Given the description of an element on the screen output the (x, y) to click on. 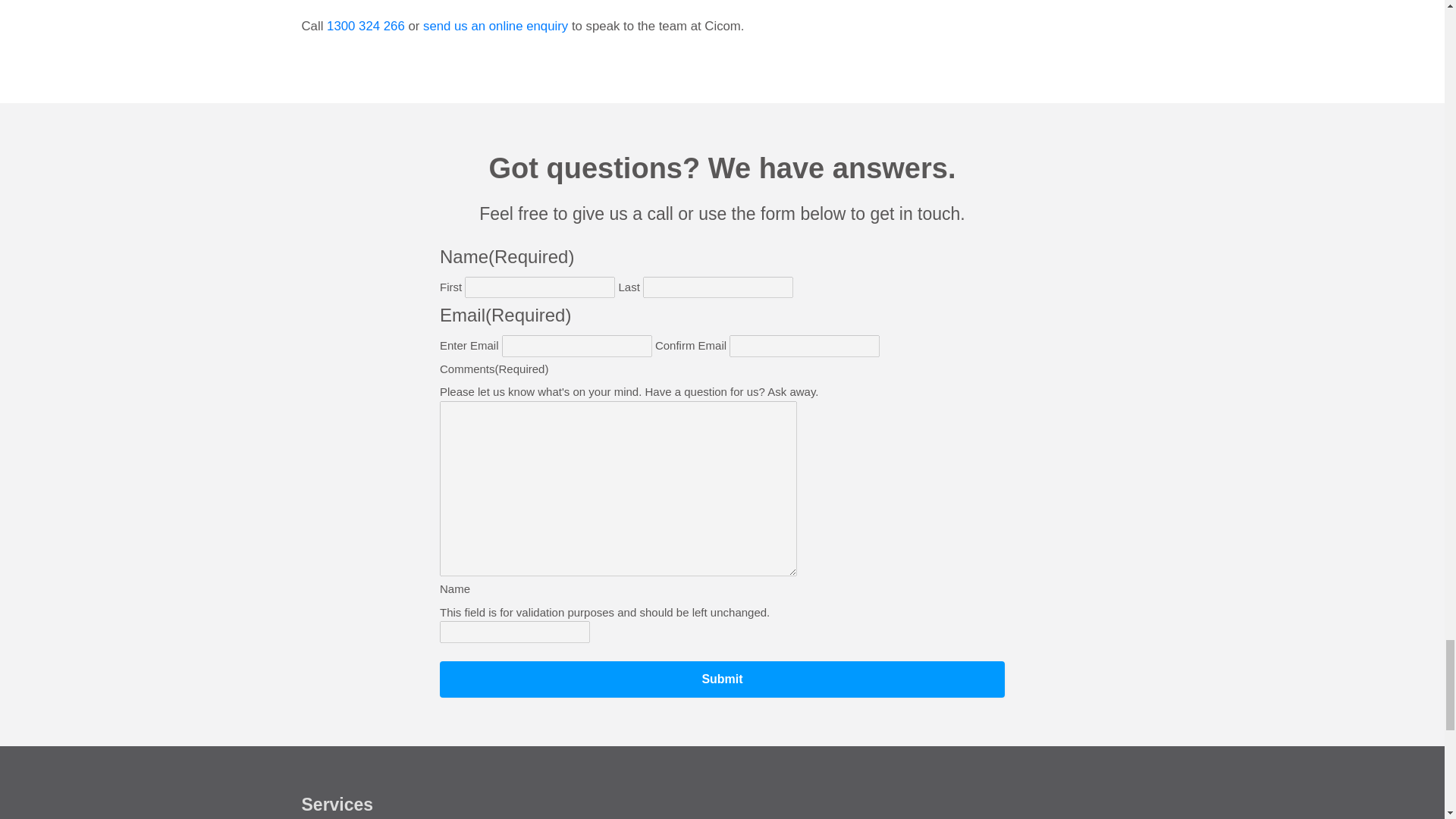
send us an online enquiry (495, 25)
1300 324 266 (365, 25)
Submit (721, 678)
